Given the description of an element on the screen output the (x, y) to click on. 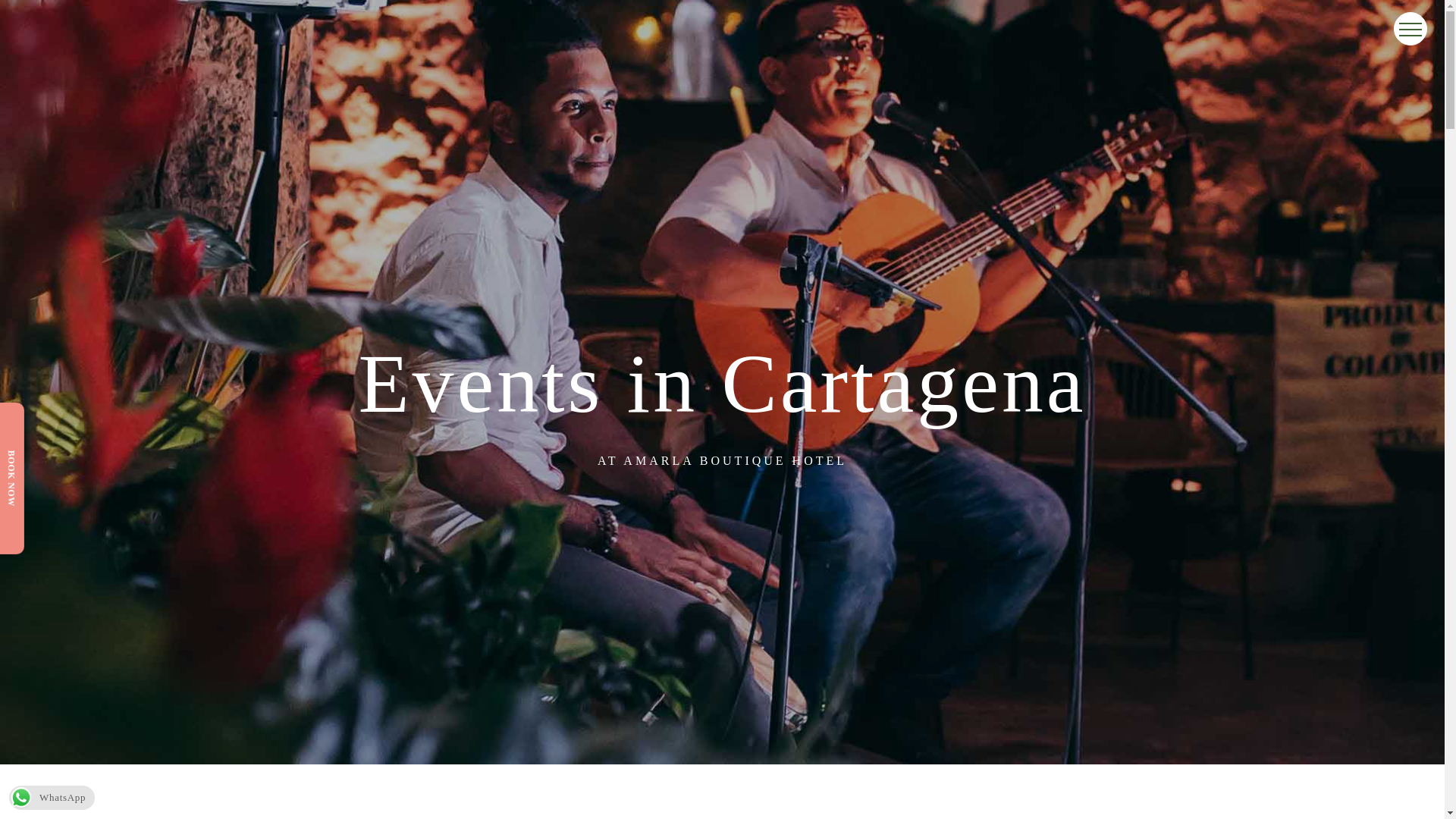
WhatsApp (51, 797)
BOOK NOW (33, 455)
